Given the description of an element on the screen output the (x, y) to click on. 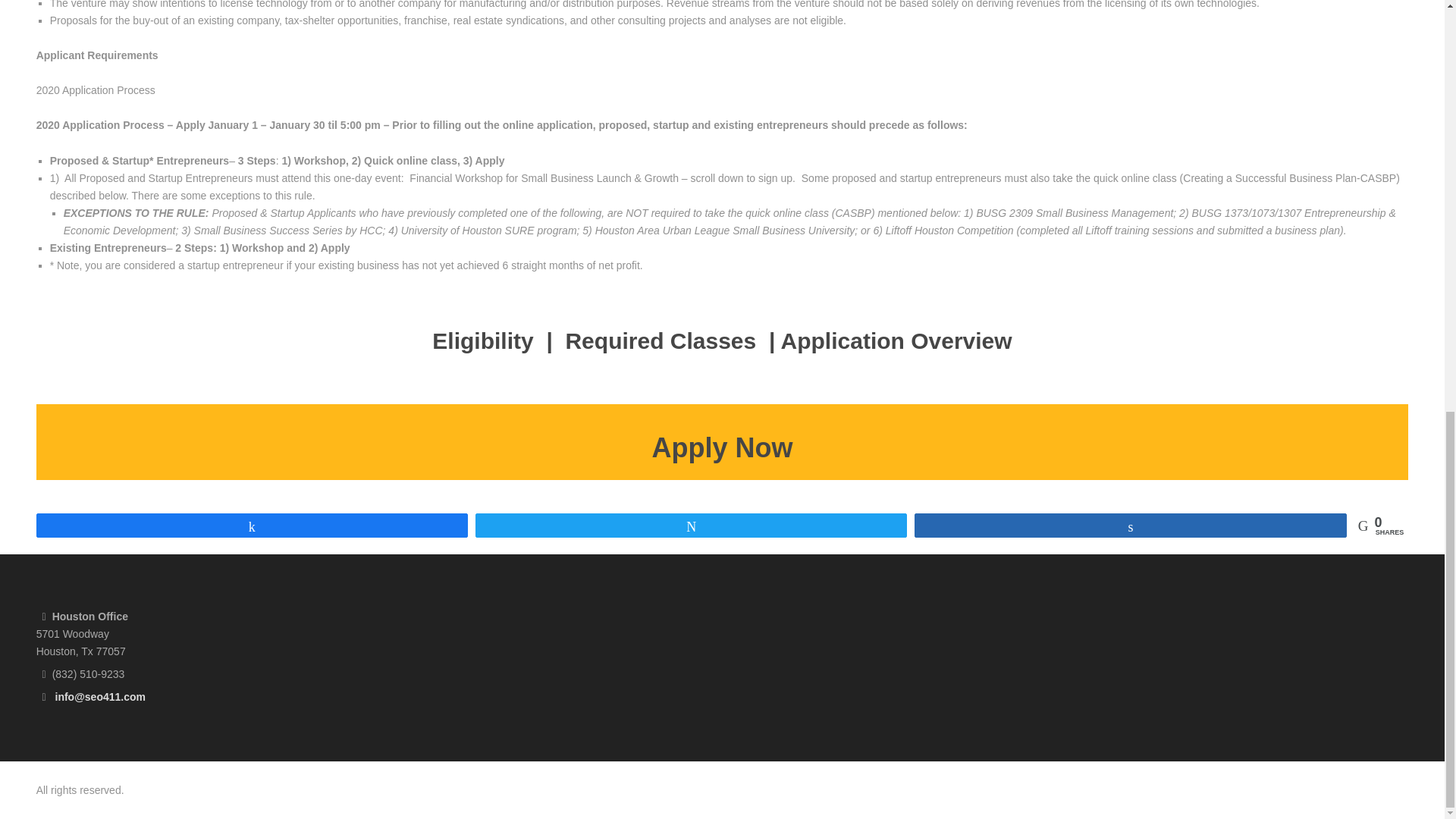
Required Classes  (662, 340)
Application Overview (895, 340)
Apply Now (722, 447)
Eligibility (482, 340)
